Given the description of an element on the screen output the (x, y) to click on. 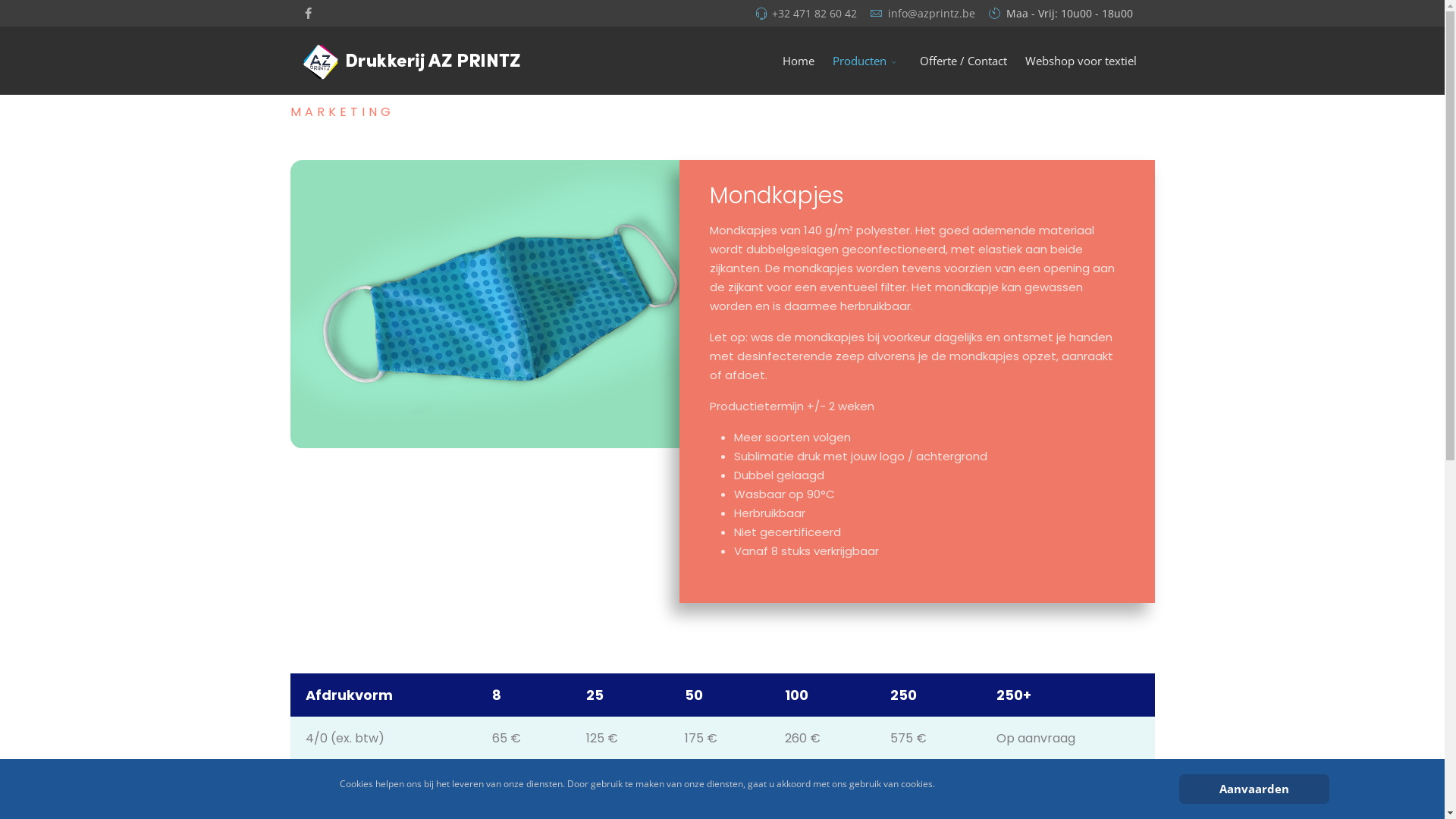
Home Element type: text (798, 60)
Producten Element type: text (866, 60)
info@azprintz.be Element type: text (930, 13)
Offerte / Contact Element type: text (962, 60)
Webshop voor textiel Element type: text (1080, 60)
+32 471 82 60 42 Element type: text (813, 13)
Aanvaarden Element type: text (1253, 788)
